Given the description of an element on the screen output the (x, y) to click on. 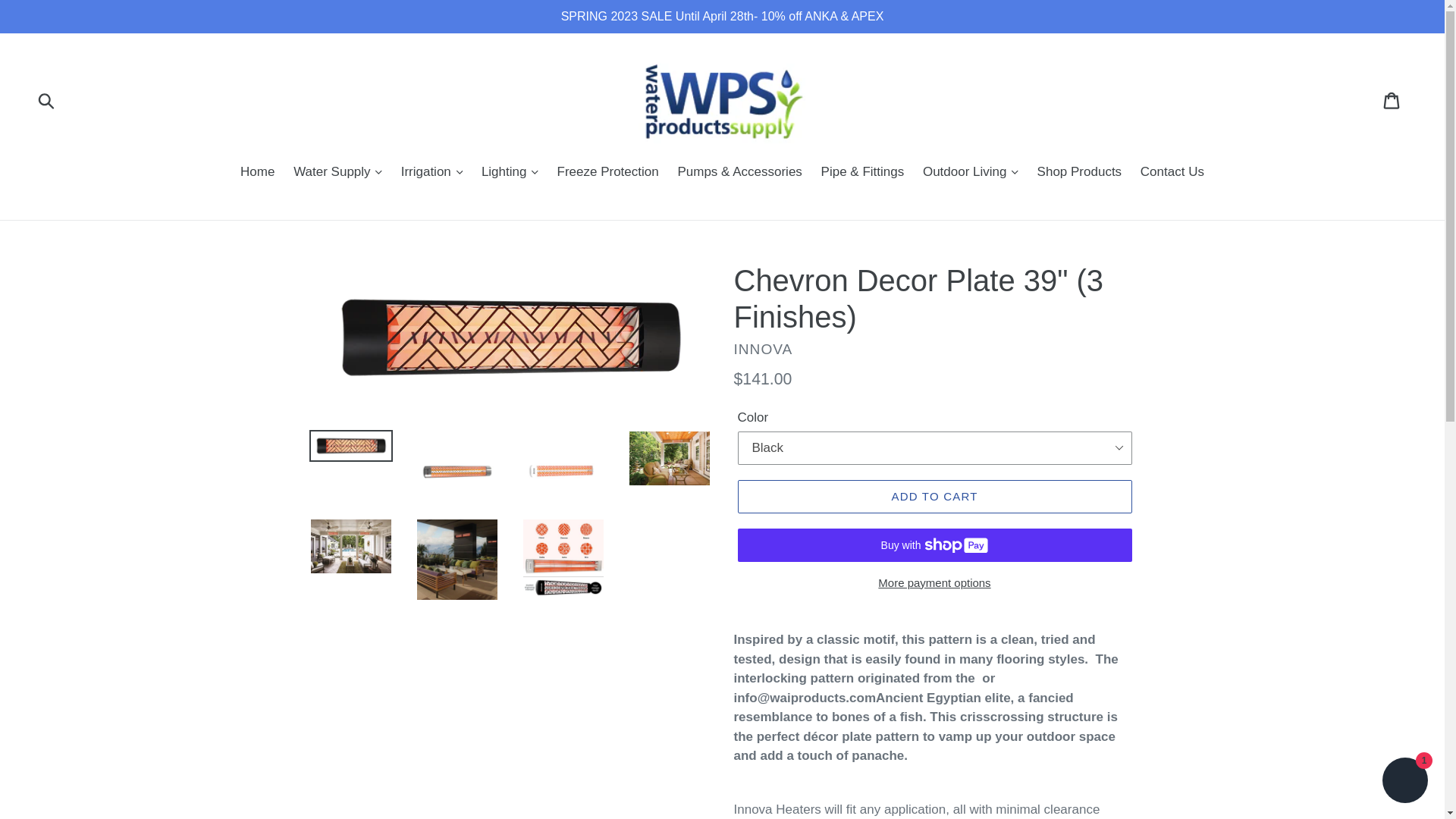
Home (257, 173)
Submit (47, 100)
Shopify online store chat (1404, 781)
Cart (1392, 99)
